Given the description of an element on the screen output the (x, y) to click on. 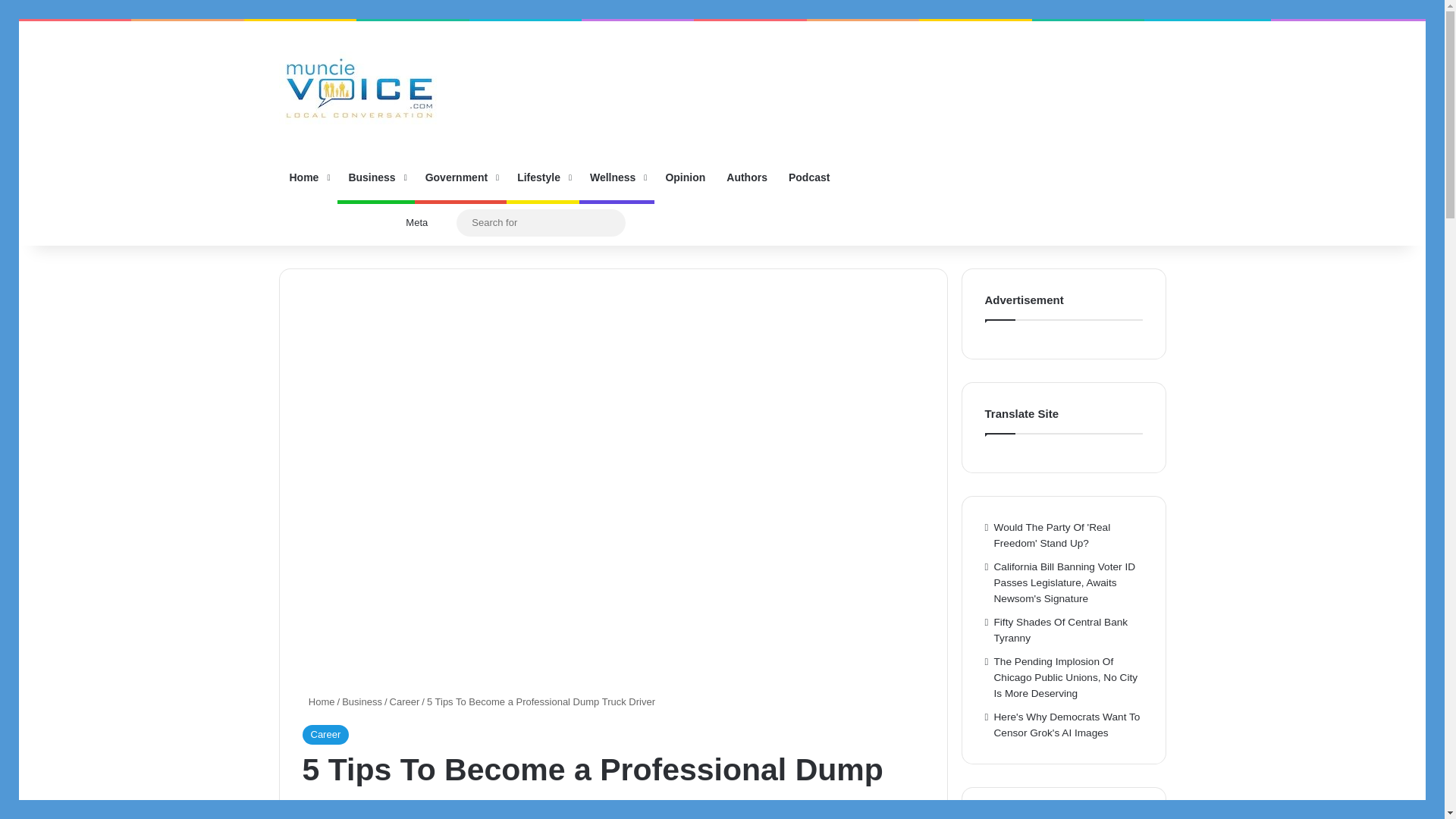
Career (325, 734)
Government (460, 176)
Wellness (616, 176)
Muncie Voice (359, 87)
Career (405, 701)
Opinion (684, 176)
Home (308, 176)
Authors (746, 176)
Lifestyle (542, 176)
Business (375, 176)
